Given the description of an element on the screen output the (x, y) to click on. 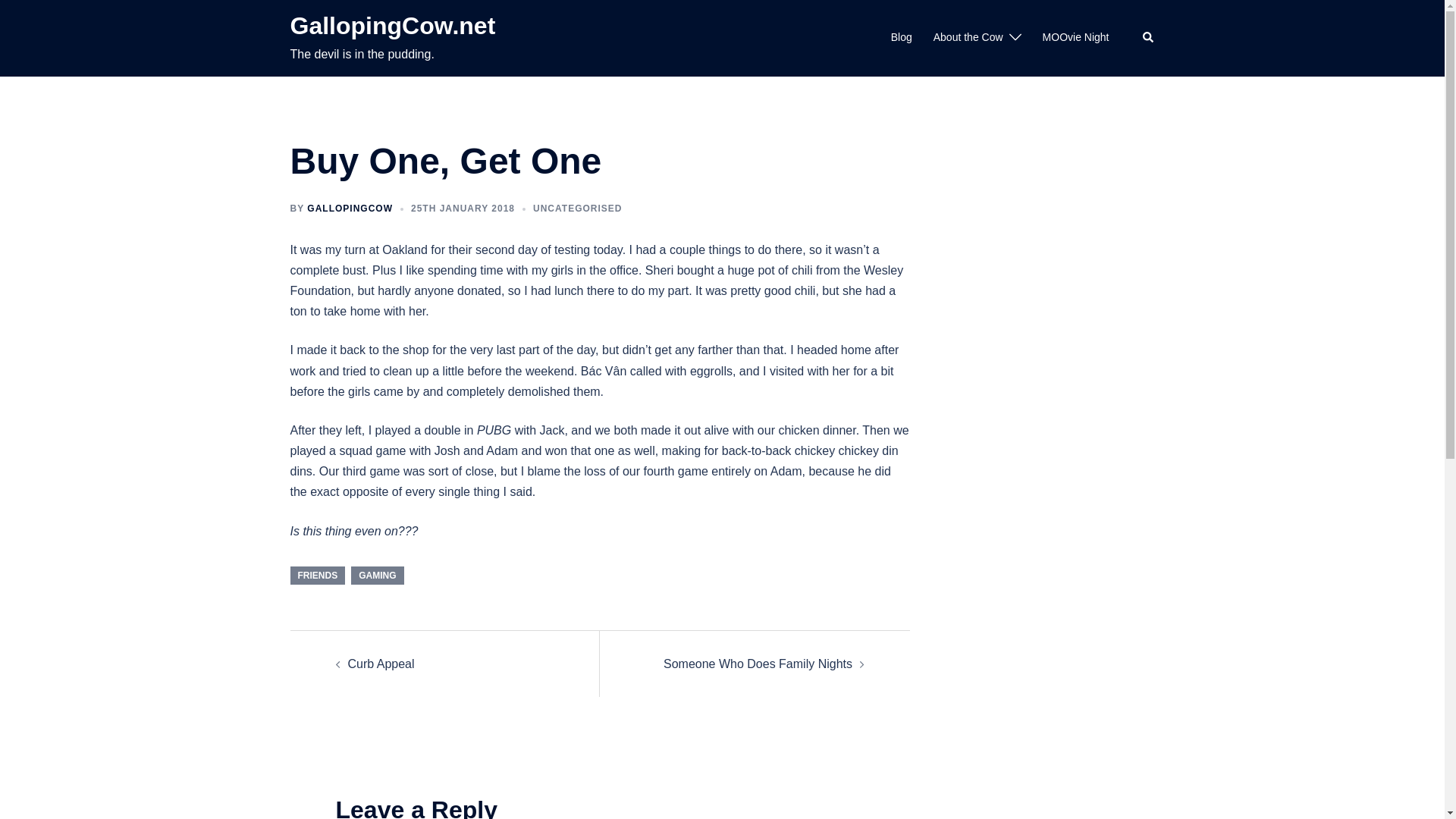
FRIENDS (317, 575)
Curb Appeal (380, 663)
GAMING (376, 575)
Someone Who Does Family Nights (757, 663)
GALLOPINGCOW (350, 208)
25TH JANUARY 2018 (462, 208)
UNCATEGORISED (576, 208)
Search (1147, 37)
MOOvie Night (1075, 37)
GallopingCow.net (392, 25)
